Given the description of an element on the screen output the (x, y) to click on. 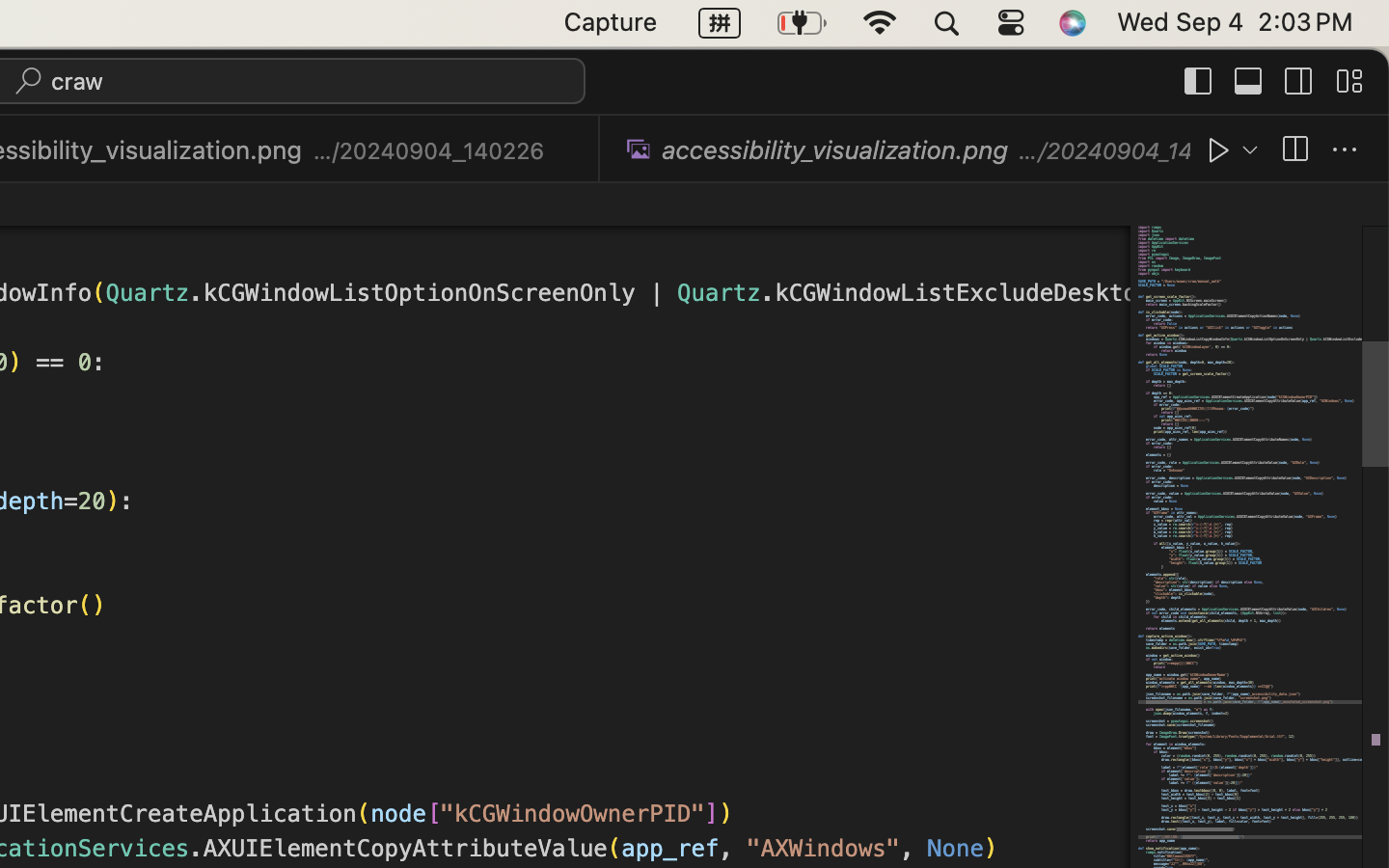
…/20240904_140226 Element type: AXStaticText (428, 149)
 Element type: AXButton (1294, 150)
accessibility_visualization.png Element type: AXStaticText (834, 149)
 Element type: AXCheckBox (1198, 80)
 Element type: AXButton (1349, 80)
